Given the description of an element on the screen output the (x, y) to click on. 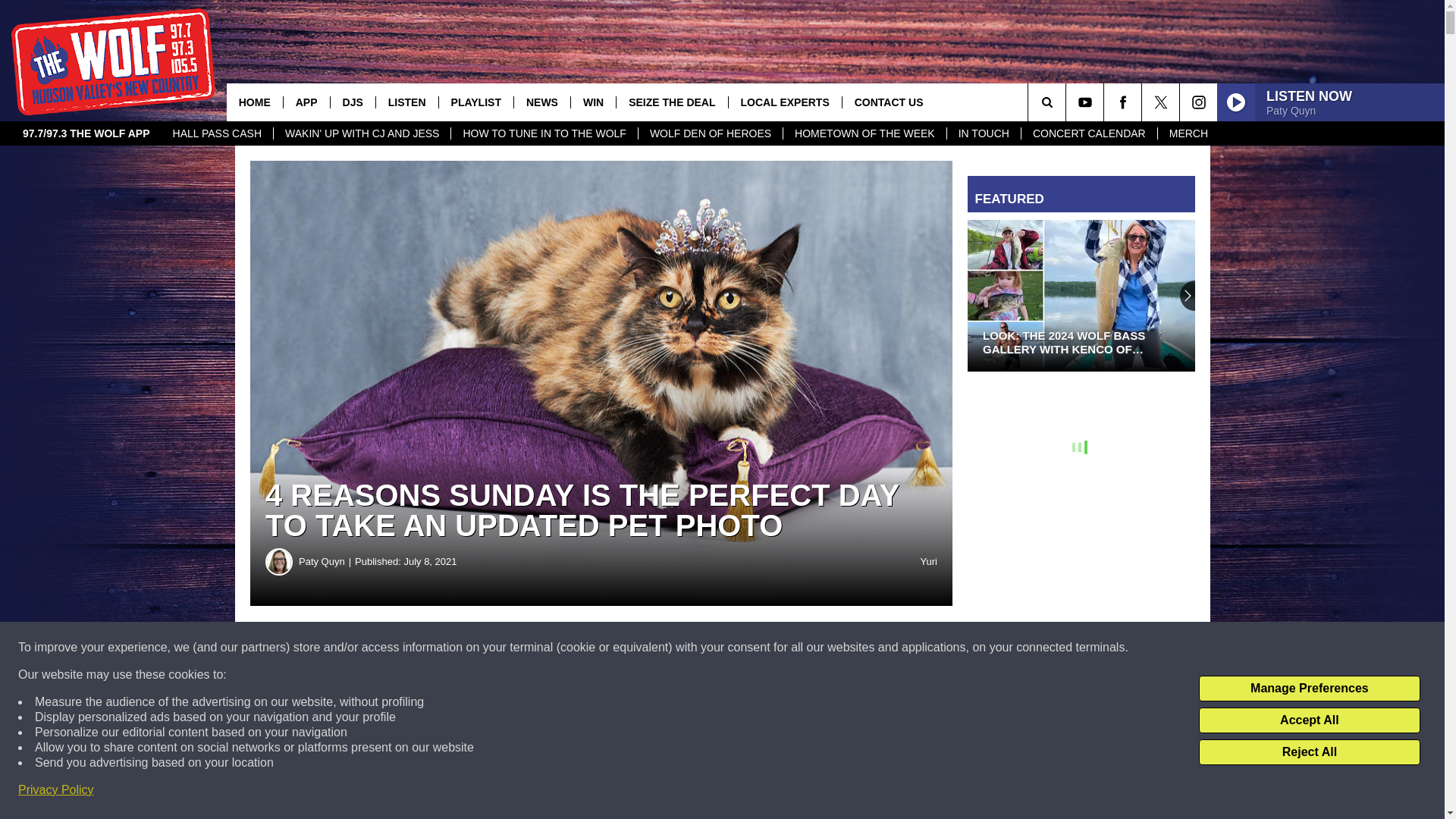
HOME (254, 102)
HOMETOWN OF THE WEEK (864, 133)
Accept All (1309, 720)
SEARCH (1068, 102)
LISTEN (406, 102)
APP (306, 102)
HALL PASS CASH (217, 133)
MERCH (1188, 133)
WAKIN' UP WITH CJ AND JESS (361, 133)
Reject All (1309, 751)
CONCERT CALENDAR (1088, 133)
WIN (592, 102)
SEARCH (1068, 102)
SEIZE THE DEAL (670, 102)
DJS (352, 102)
